Given the description of an element on the screen output the (x, y) to click on. 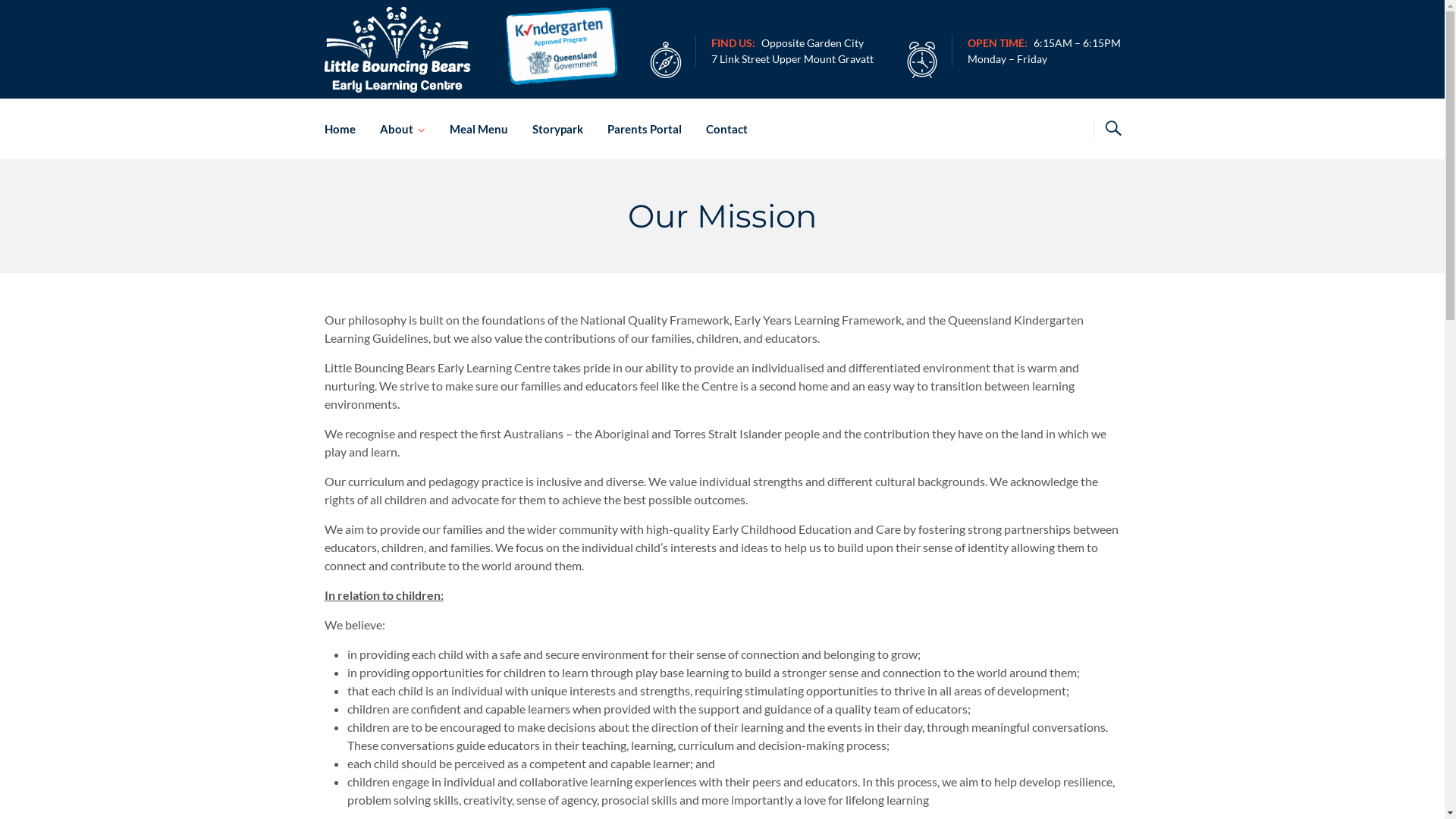
Parents Portal Element type: text (643, 128)
Storypark Element type: text (557, 128)
Contact Element type: text (719, 128)
Home Element type: text (345, 128)
About Element type: text (401, 128)
Meal Menu Element type: text (477, 128)
